Given the description of an element on the screen output the (x, y) to click on. 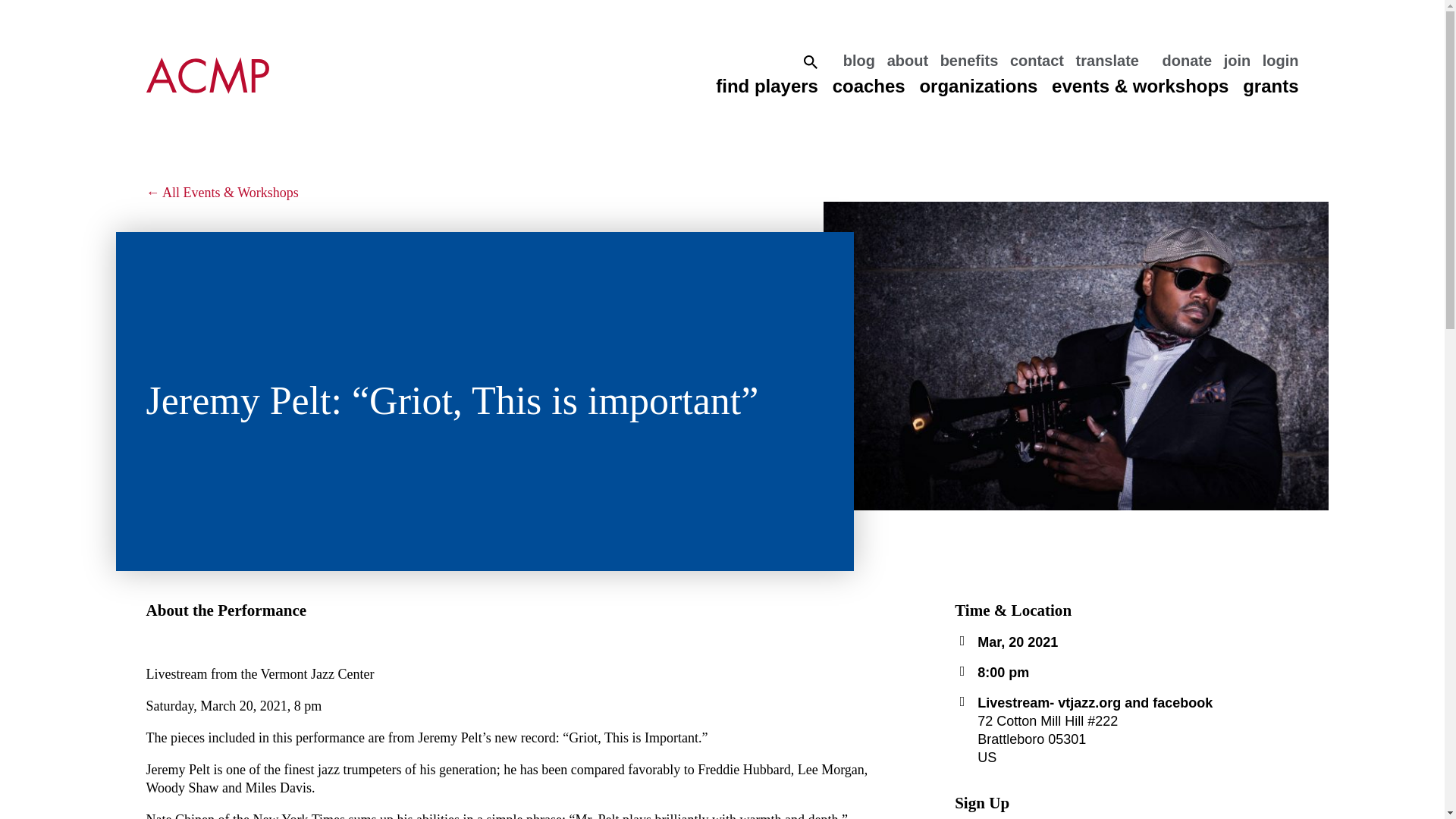
find players (767, 85)
benefits (969, 60)
login (1280, 60)
join (1237, 60)
contact (1037, 60)
blog (859, 60)
grants (1270, 85)
organizations (977, 85)
translate (1106, 60)
coaches (868, 85)
about (907, 60)
donate (1186, 60)
